Given the description of an element on the screen output the (x, y) to click on. 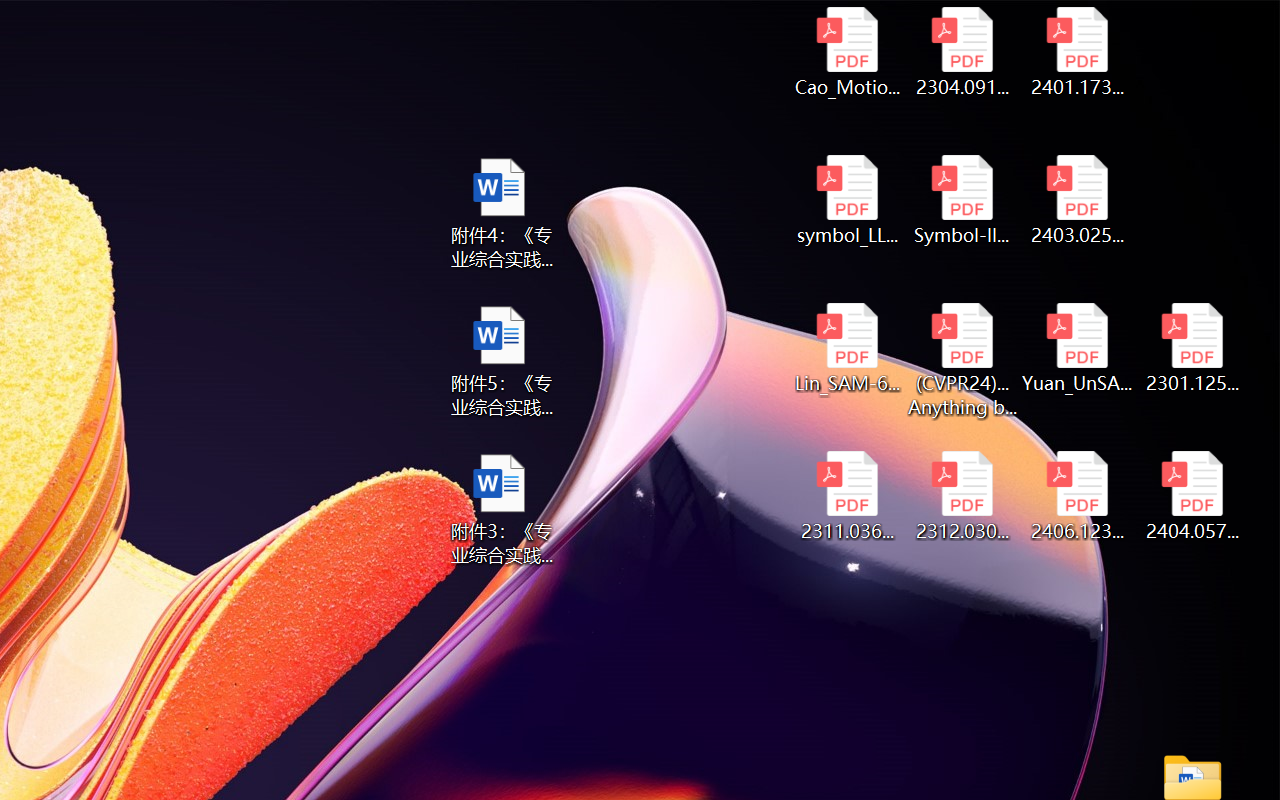
symbol_LLM.pdf (846, 200)
2312.03032v2.pdf (962, 496)
